Given the description of an element on the screen output the (x, y) to click on. 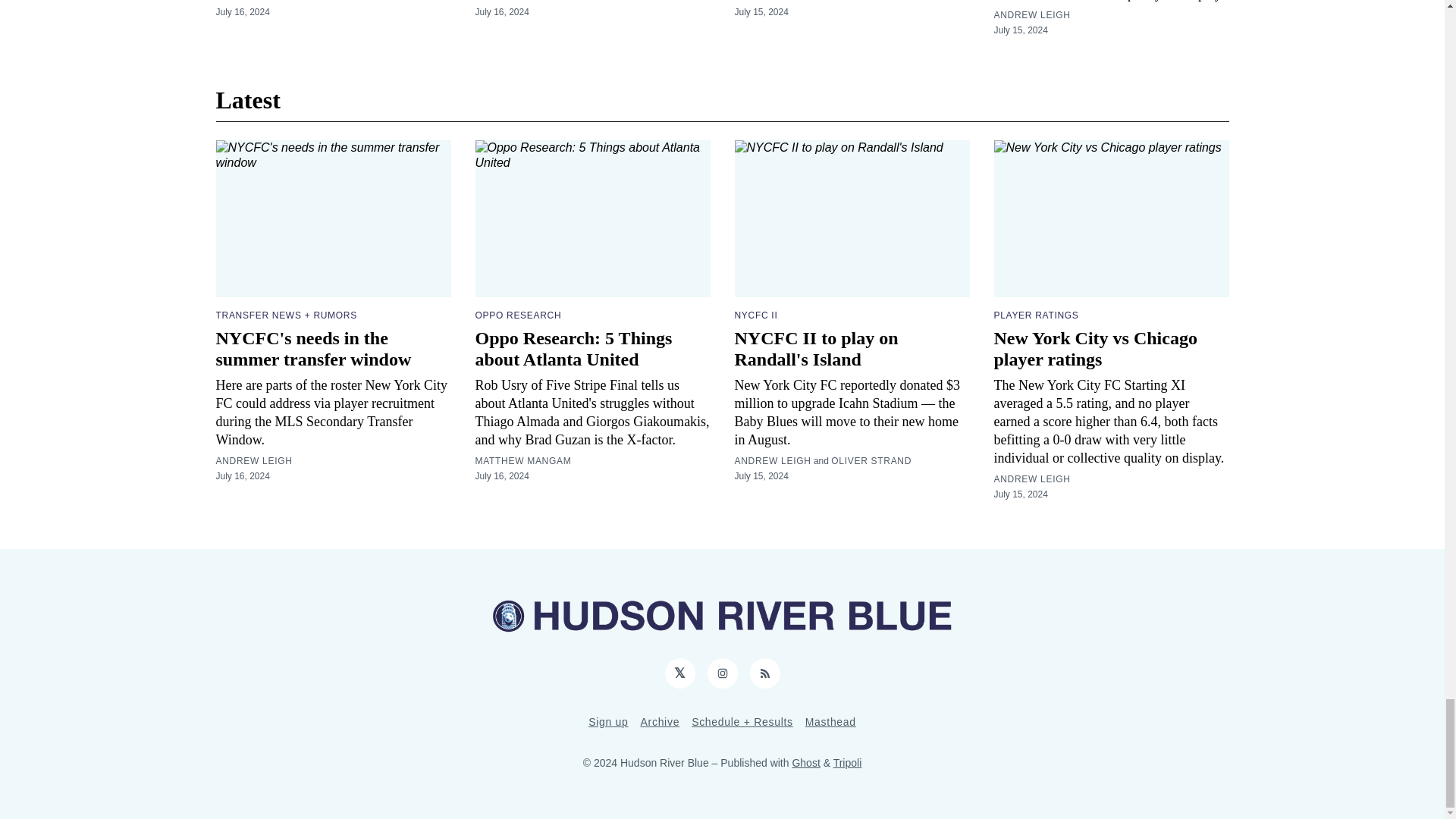
ANDREW LEIGH (253, 1)
MATTHEW MANGAM (522, 1)
ANDREW LEIGH (771, 1)
